Given the description of an element on the screen output the (x, y) to click on. 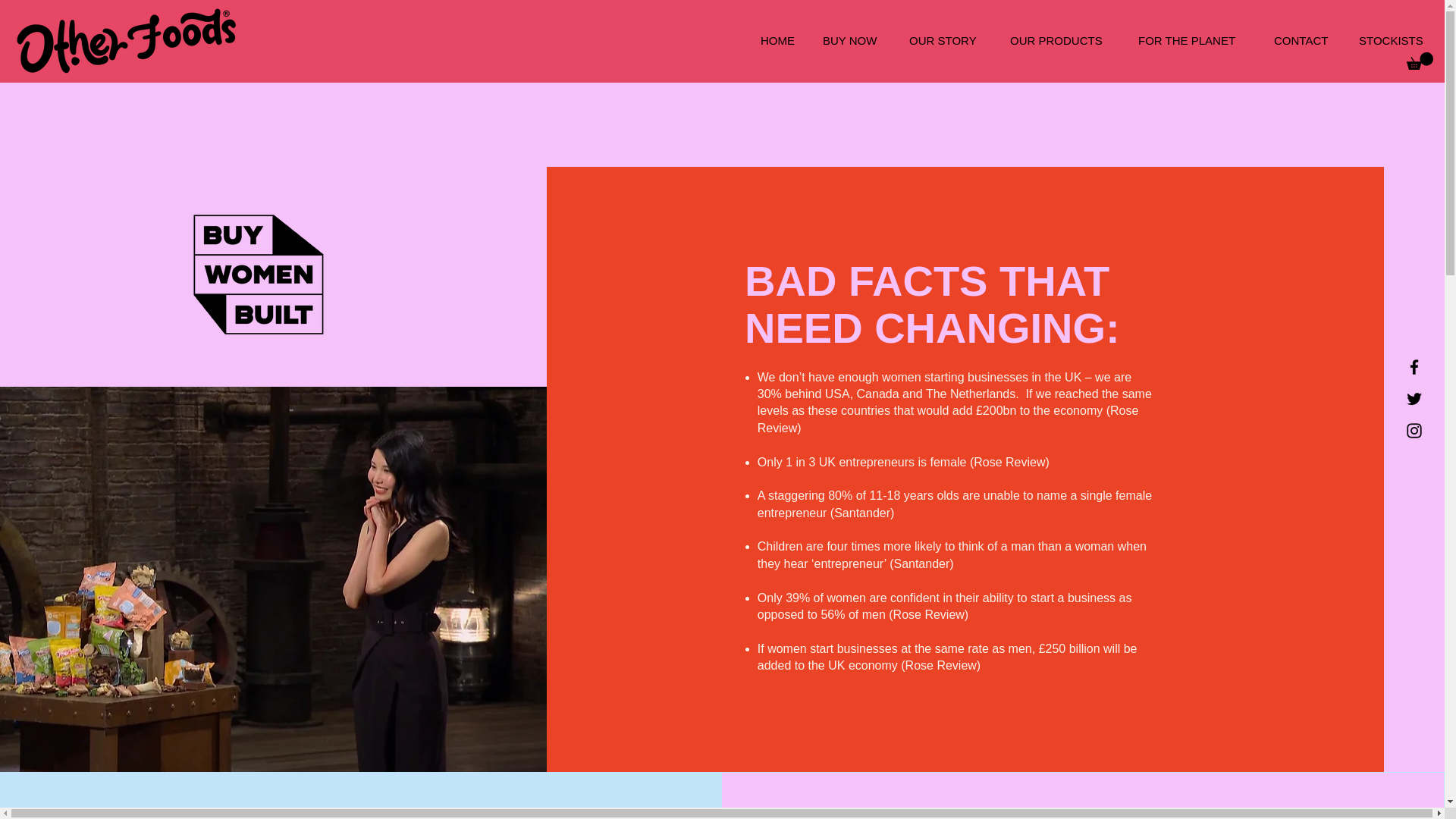
BUY NOW (854, 40)
HOME (779, 40)
CONTACT (1305, 40)
